Given the description of an element on the screen output the (x, y) to click on. 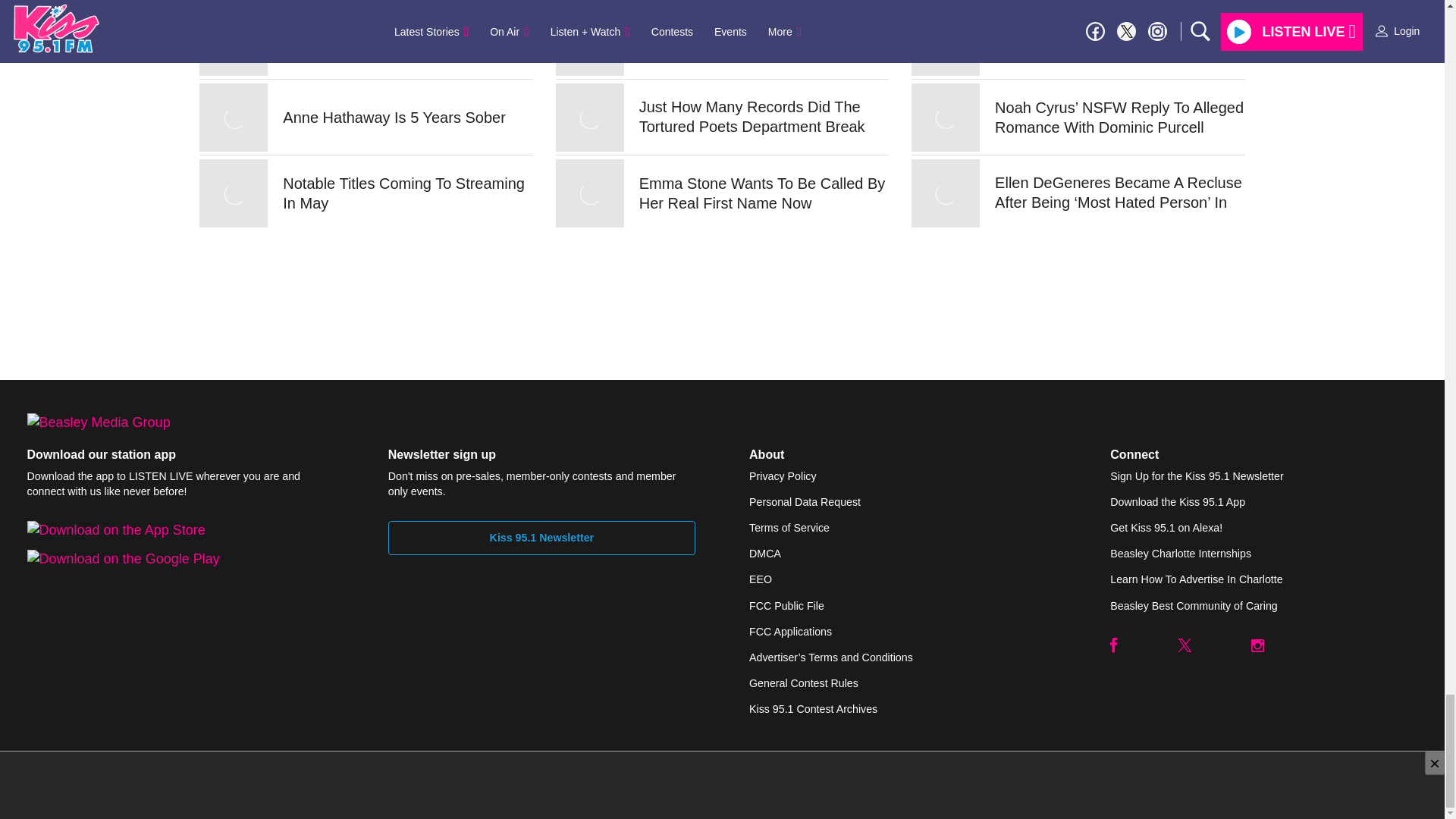
Instagram (1256, 644)
Twitter (1184, 644)
